Given the description of an element on the screen output the (x, y) to click on. 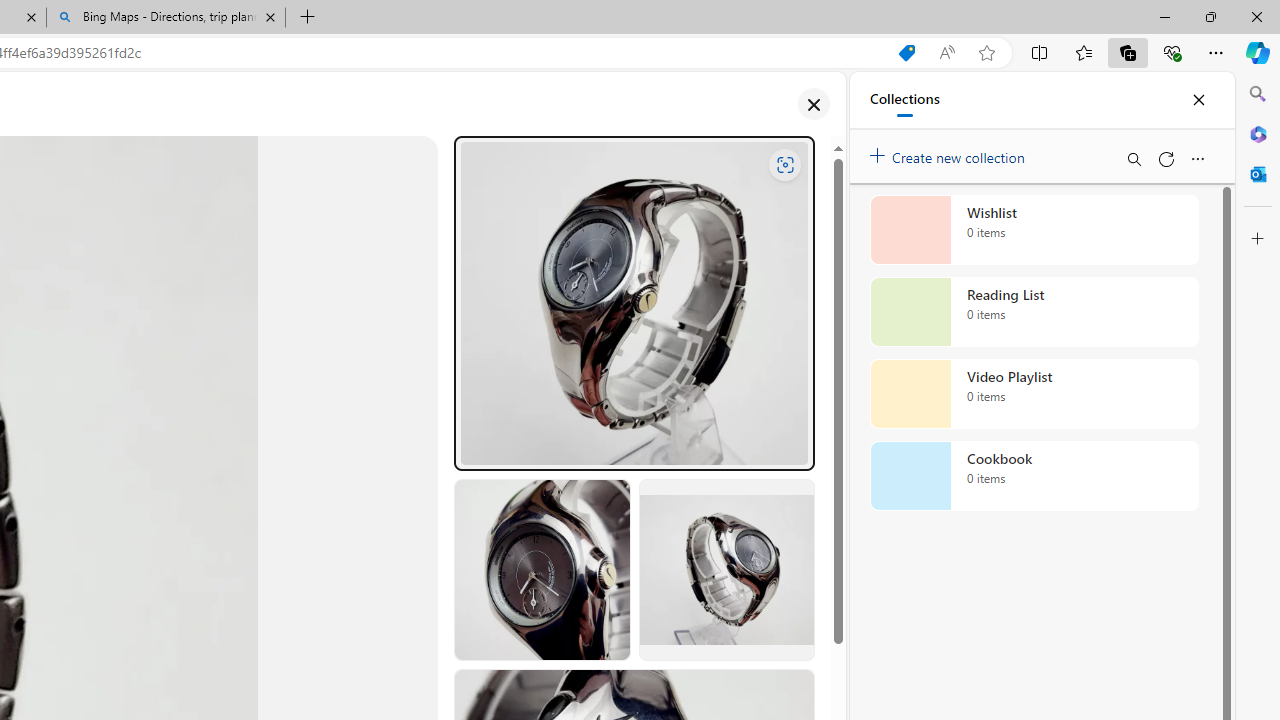
Create new collection (950, 153)
More options menu (1197, 158)
Reading List collection, 0 items (1034, 312)
You have the best price! (906, 53)
